Given the description of an element on the screen output the (x, y) to click on. 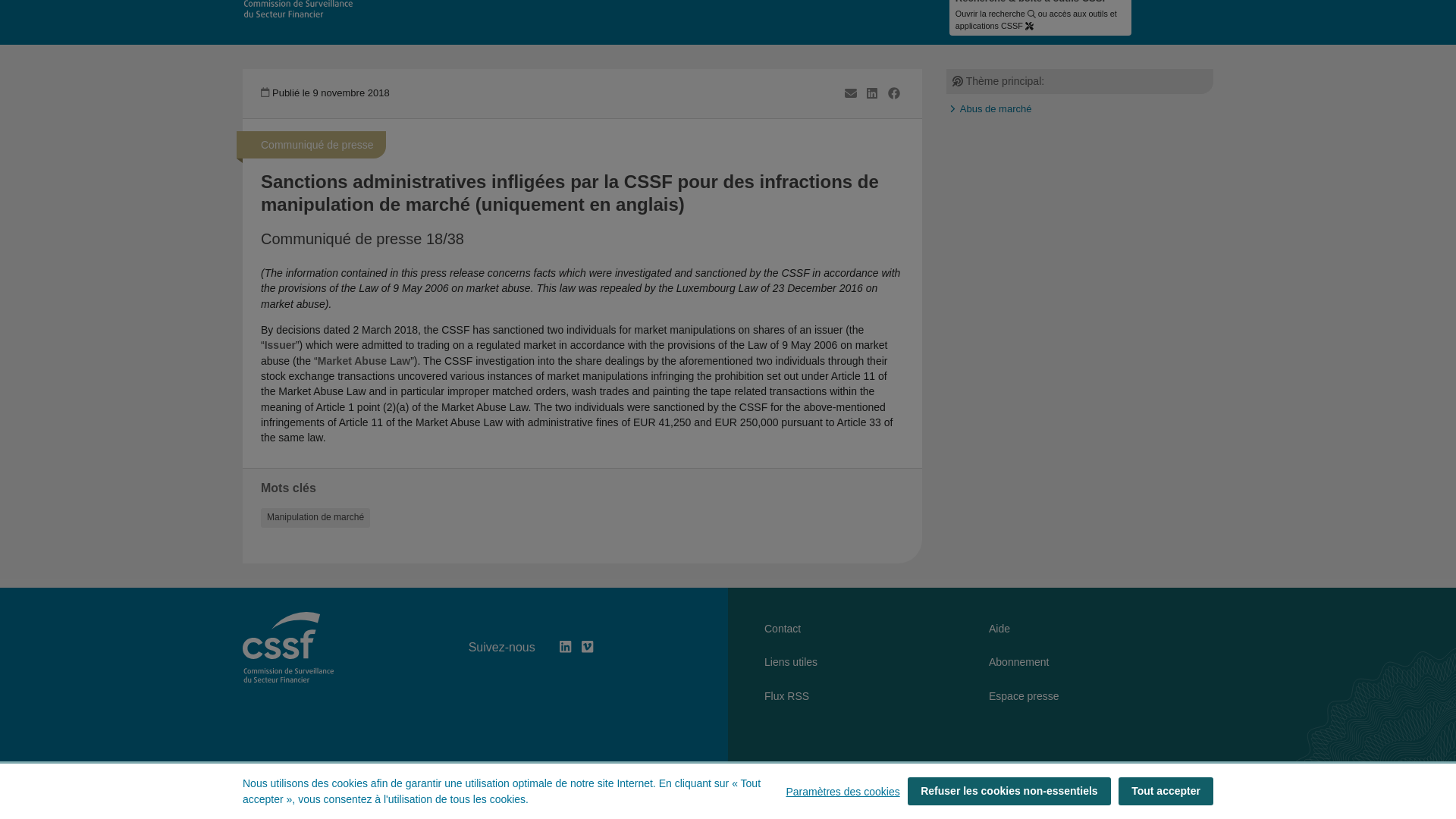
Refuser les cookies non-essentiels (1008, 662)
Envoyer par email (850, 92)
Partager sur LinkedIn (871, 92)
Partager sur Facebook (893, 92)
Tout accepter (1165, 662)
